Given the description of an element on the screen output the (x, y) to click on. 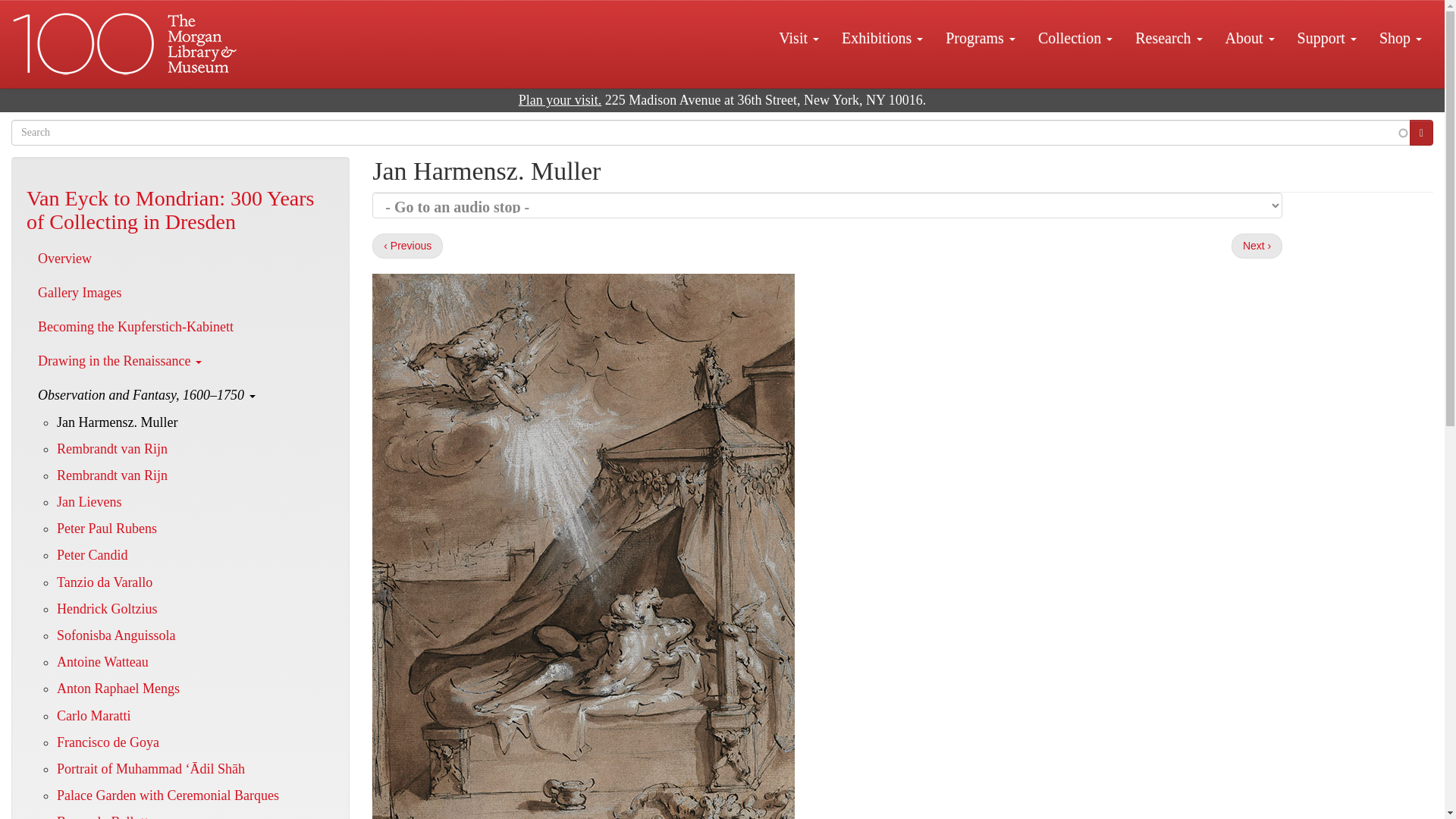
Search (1420, 132)
Go to next page (1256, 245)
Visit (798, 37)
Collection (1075, 37)
Enter the terms you wish to search for. (710, 132)
Home (126, 43)
Go to previous page (407, 245)
Programs (980, 37)
Exhibitions (881, 37)
